Given the description of an element on the screen output the (x, y) to click on. 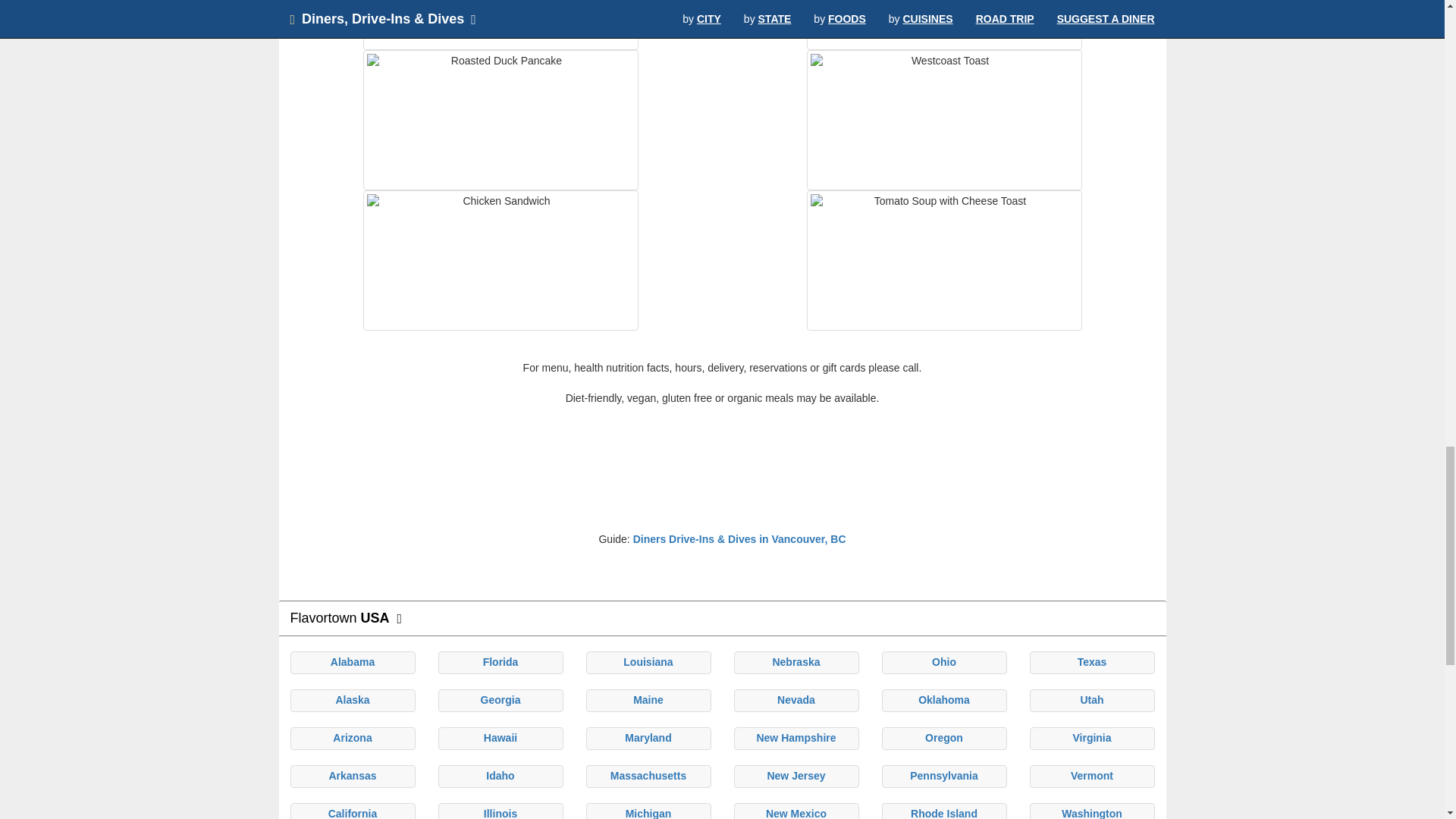
Alaska (351, 699)
Alabama (352, 662)
Georgia (500, 699)
Maine (648, 699)
Idaho (499, 775)
Massachusetts (647, 775)
Hawaii (499, 737)
Florida (500, 662)
Michigan (648, 813)
Louisiana (647, 662)
Nebraska (795, 662)
Arkansas (352, 775)
Arizona (352, 737)
Illinois (499, 813)
California (353, 813)
